Given the description of an element on the screen output the (x, y) to click on. 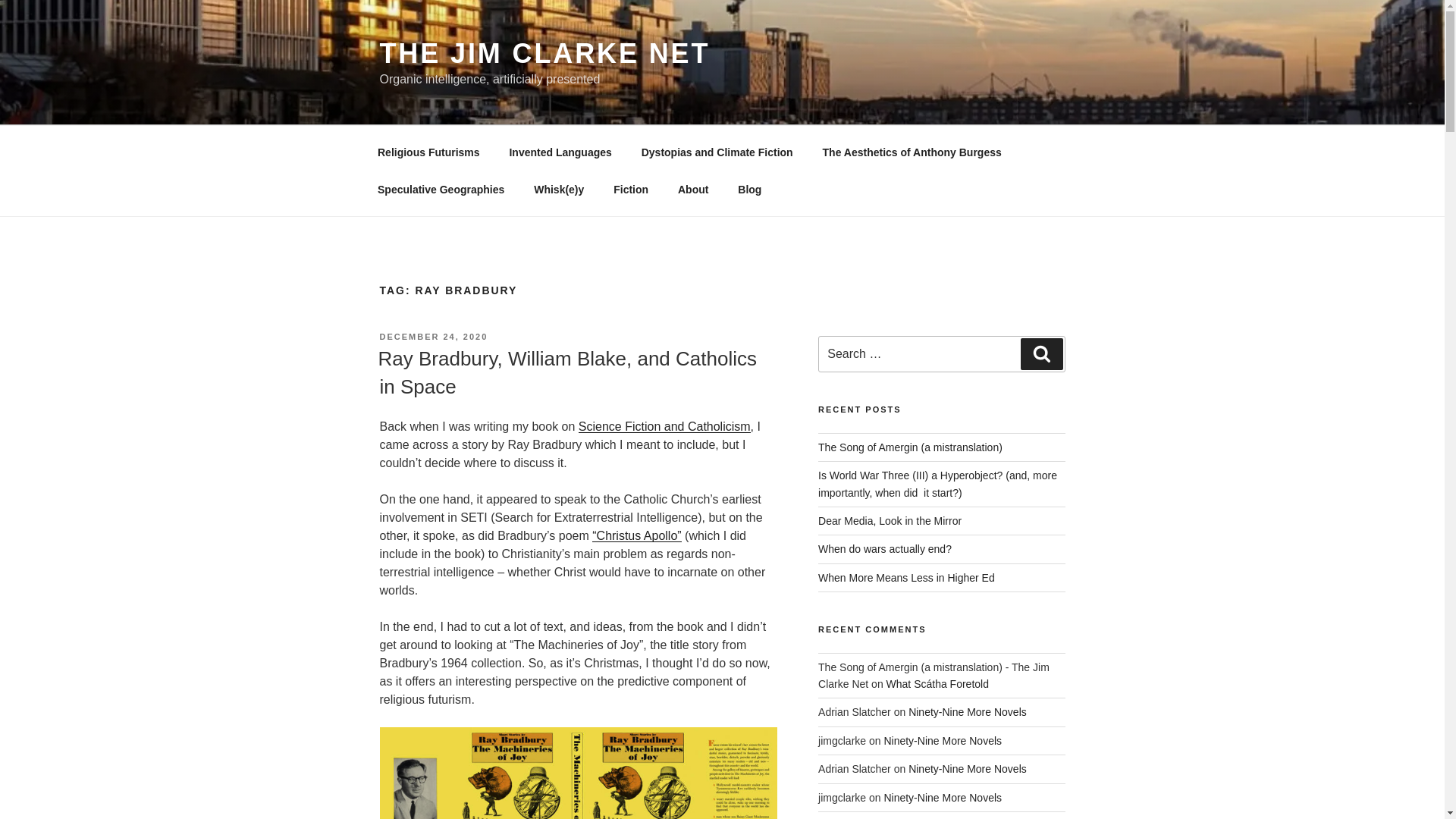
Ninety-Nine More Novels (942, 797)
Dystopias and Climate Fiction (716, 151)
Invented Languages (560, 151)
When More Means Less in Higher Ed (906, 577)
About (691, 189)
Ninety-Nine More Novels (967, 768)
The Aesthetics of Anthony Burgess (911, 151)
When do wars actually end? (885, 548)
THE JIM CLARKE NET (544, 52)
Science Fiction and Catholicism (664, 426)
Search (1041, 354)
Ninety-Nine More Novels (967, 711)
Dear Media, Look in the Mirror (889, 521)
Blog (749, 189)
DECEMBER 24, 2020 (432, 336)
